Given the description of an element on the screen output the (x, y) to click on. 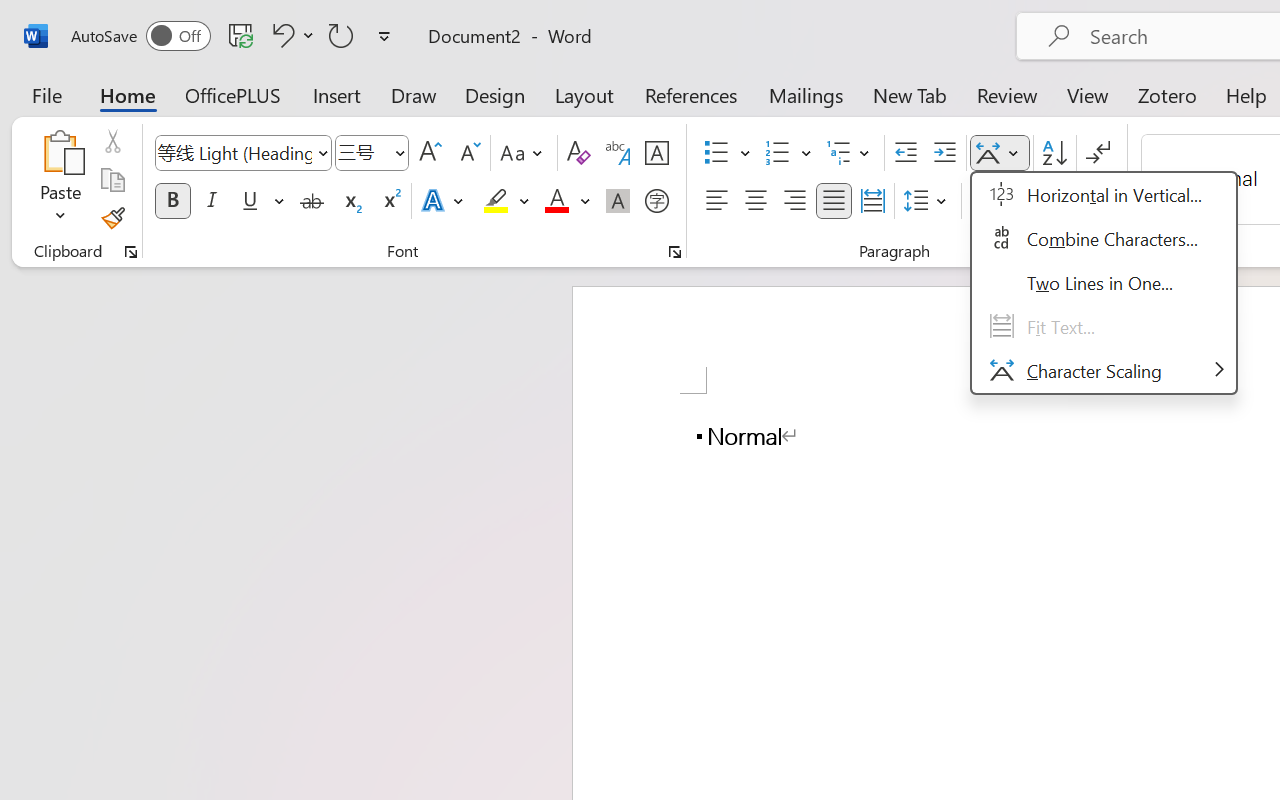
Bold (172, 201)
Superscript (390, 201)
Line and Paragraph Spacing (927, 201)
Bullets (716, 153)
Character Shading (618, 201)
More Options (806, 153)
Zotero (1166, 94)
Change Case (524, 153)
Center (756, 201)
Show/Hide Editing Marks (1098, 153)
Cut (112, 141)
AutoSave (140, 35)
